Given the description of an element on the screen output the (x, y) to click on. 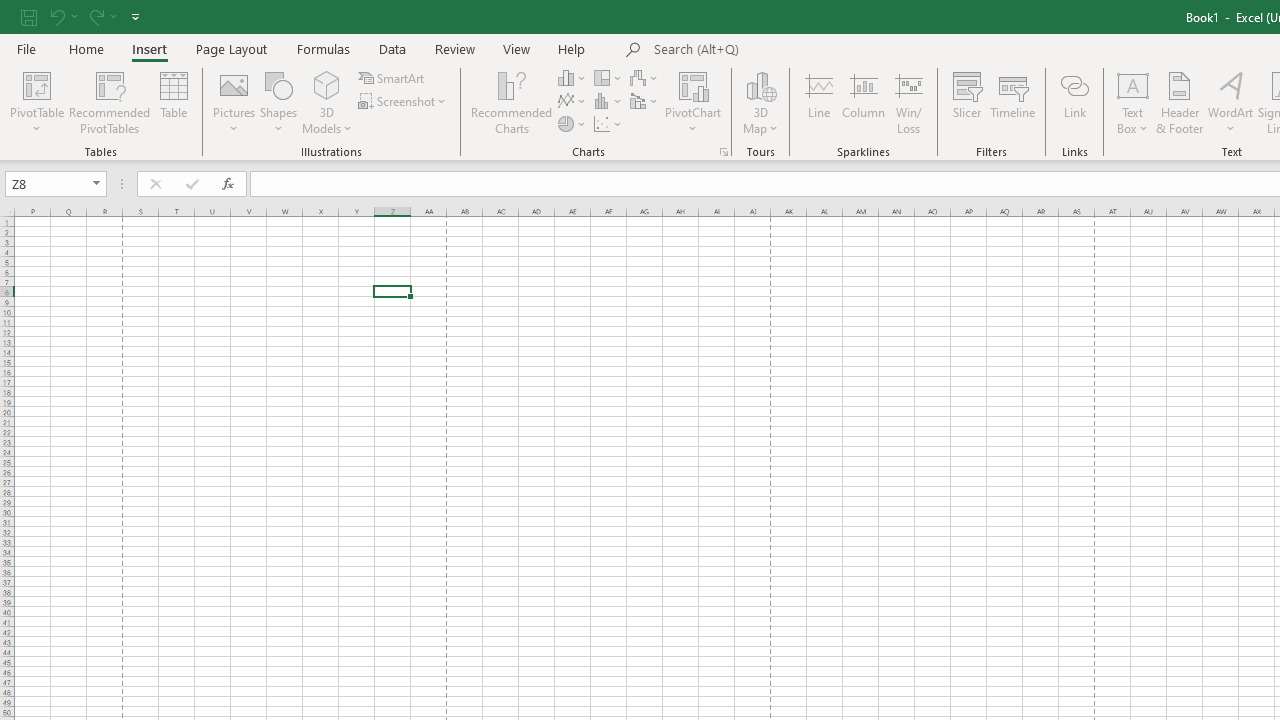
Win/Loss (909, 102)
Text Box (1133, 102)
Insert Column or Bar Chart (573, 78)
3D Map (760, 84)
3D Map (760, 102)
Insert Waterfall, Funnel, Stock, Surface, or Radar Chart (645, 78)
Draw Horizontal Text Box (1133, 84)
